Given the description of an element on the screen output the (x, y) to click on. 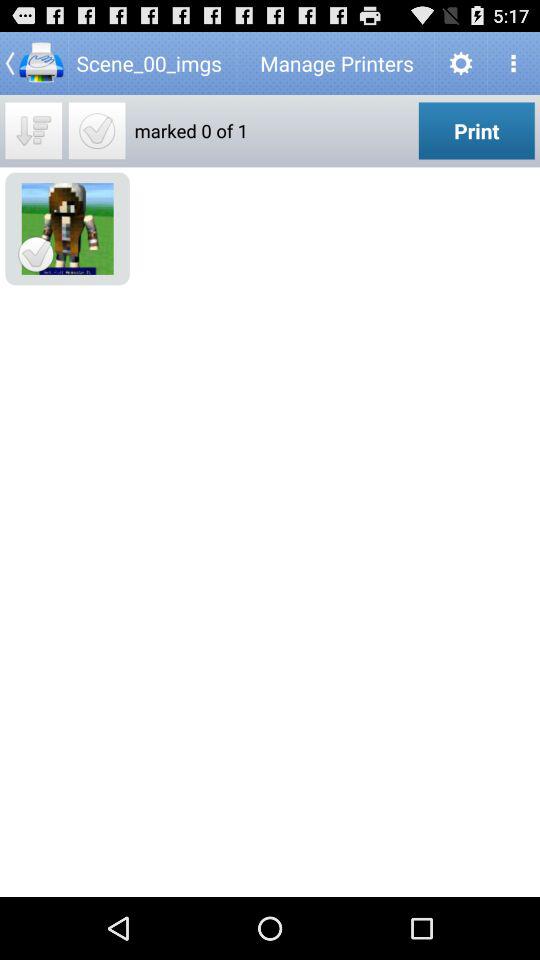
download button (33, 130)
